Given the description of an element on the screen output the (x, y) to click on. 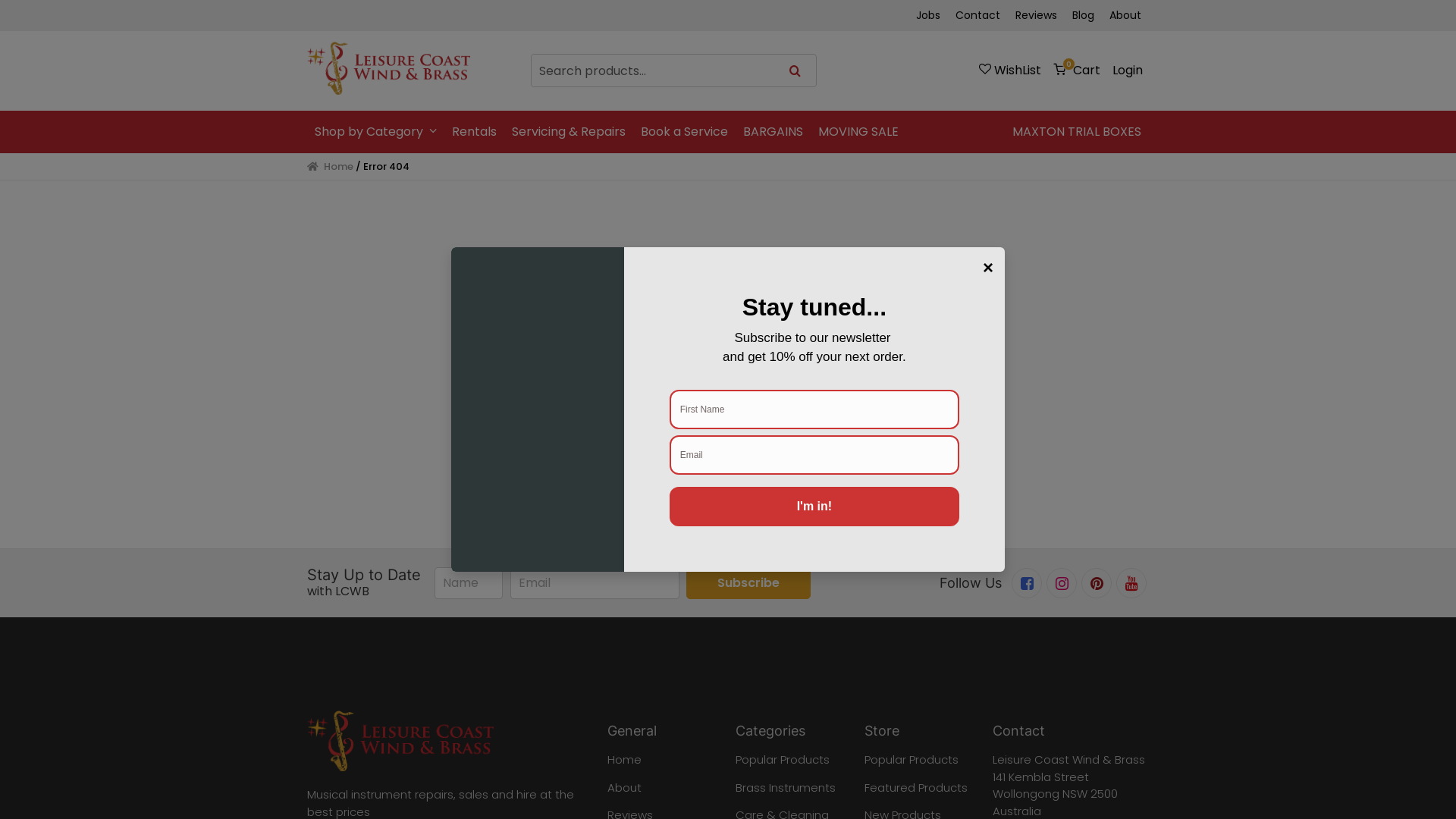
Reviews Element type: text (1035, 15)
Home Element type: text (623, 759)
Back to Homepage Element type: text (727, 459)
Contact Element type: text (977, 15)
Home Element type: text (330, 166)
About Element type: text (1124, 15)
0 Element type: text (1076, 69)
Featured Products Element type: text (915, 787)
Rentals Element type: text (474, 131)
Shop by Category Element type: text (375, 131)
Jobs Element type: text (927, 15)
Popular Products Element type: text (782, 759)
Brass Instruments Element type: text (785, 787)
Login Element type: text (1127, 69)
About Element type: text (623, 787)
Popular Products Element type: text (911, 759)
Book a Service Element type: text (684, 131)
MOVING SALE Element type: text (858, 131)
WishList Element type: text (1009, 69)
BARGAINS Element type: text (772, 131)
Servicing & Repairs Element type: text (568, 131)
Blog Element type: text (1082, 15)
MAXTON TRIAL BOXES Element type: text (1076, 131)
Subscribe Element type: text (748, 583)
